Given the description of an element on the screen output the (x, y) to click on. 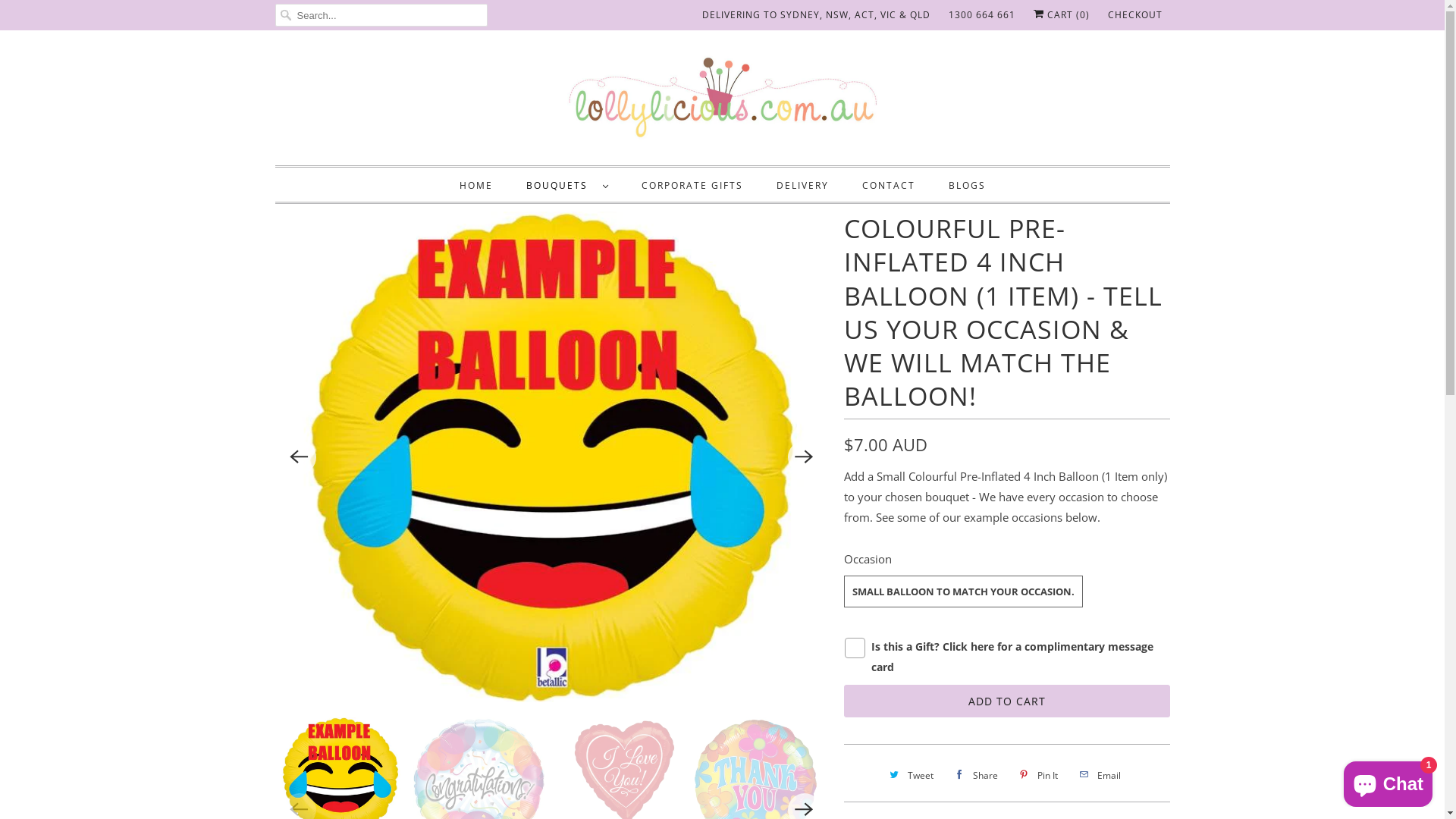
Pin It Element type: text (1036, 774)
Tweet Element type: text (909, 774)
Lollylicious.com.au Element type: hover (721, 101)
DELIVERING TO SYDNEY, NSW, ACT, VIC & QLD Element type: text (816, 14)
CONTACT Element type: text (887, 185)
CART (0) Element type: text (1060, 14)
1300 664 661 Element type: text (980, 14)
CHECKOUT Element type: text (1134, 14)
BLOGS Element type: text (966, 185)
ADD TO CART Element type: text (1006, 700)
Share Element type: text (974, 774)
BALLOON - Colourful Pre-Inflated 4 Inch Balloon  Element type: hover (552, 456)
CORPORATE GIFTS Element type: text (692, 185)
HOME Element type: text (475, 185)
DELIVERY Element type: text (802, 185)
Shopify online store chat Element type: hover (1388, 780)
Email Element type: text (1098, 774)
BOUQUETS  Element type: text (567, 185)
